Given the description of an element on the screen output the (x, y) to click on. 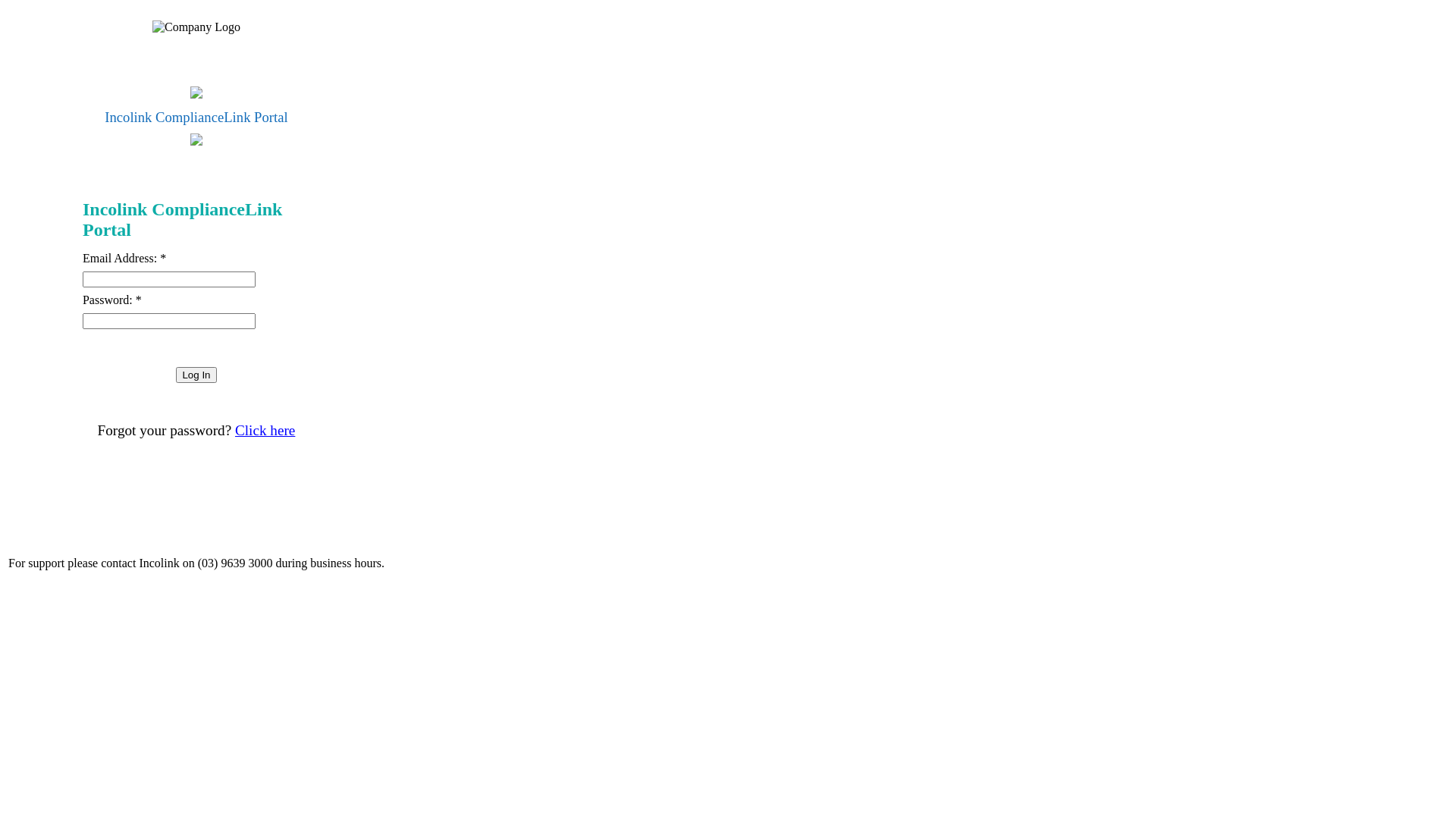
Log In Element type: text (195, 374)
Click here Element type: text (264, 430)
